Given the description of an element on the screen output the (x, y) to click on. 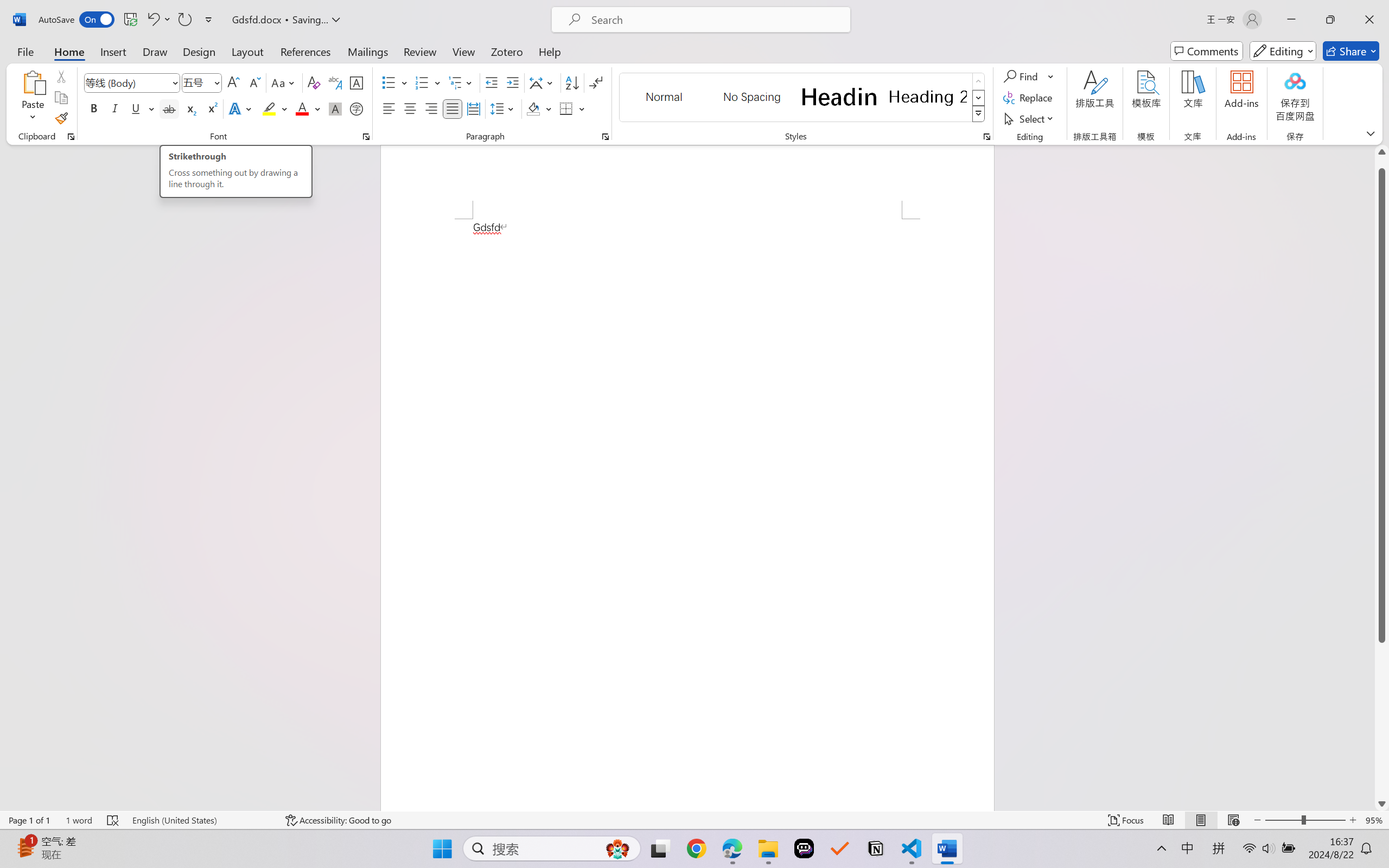
Character Shading (334, 108)
Distributed (473, 108)
Strikethrough (169, 108)
Text Highlight Color Yellow (269, 108)
